Given the description of an element on the screen output the (x, y) to click on. 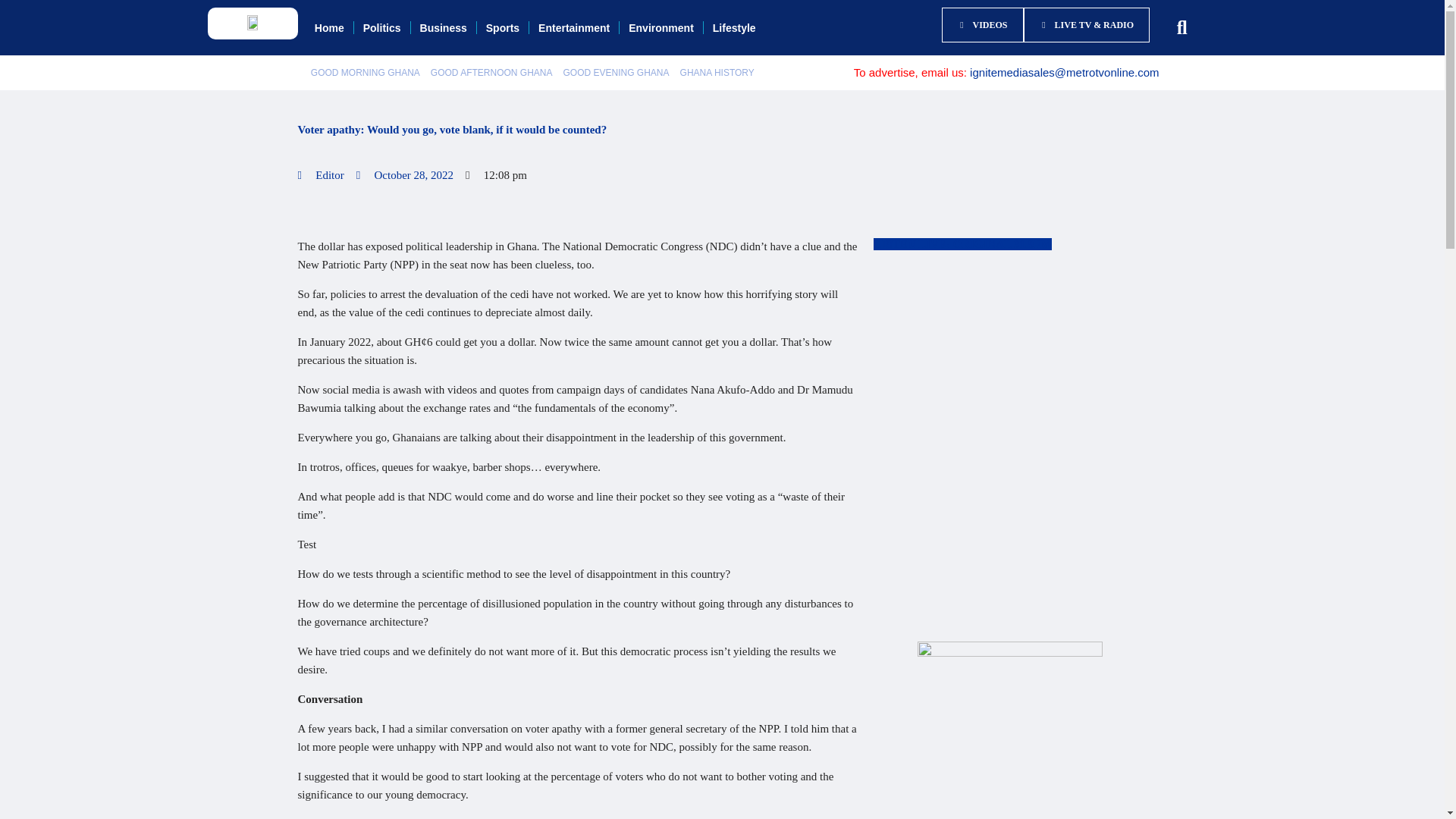
GOOD AFTERNOON GHANA (491, 57)
Lifestyle (734, 17)
GOOD EVENING GHANA (616, 57)
GOOD MORNING GHANA (365, 57)
Politics (381, 17)
Sports (502, 17)
Entertainment (573, 17)
Business (443, 17)
GHANA HISTORY (717, 57)
Environment (661, 17)
Home (329, 17)
VIDEOS (975, 17)
